Given the description of an element on the screen output the (x, y) to click on. 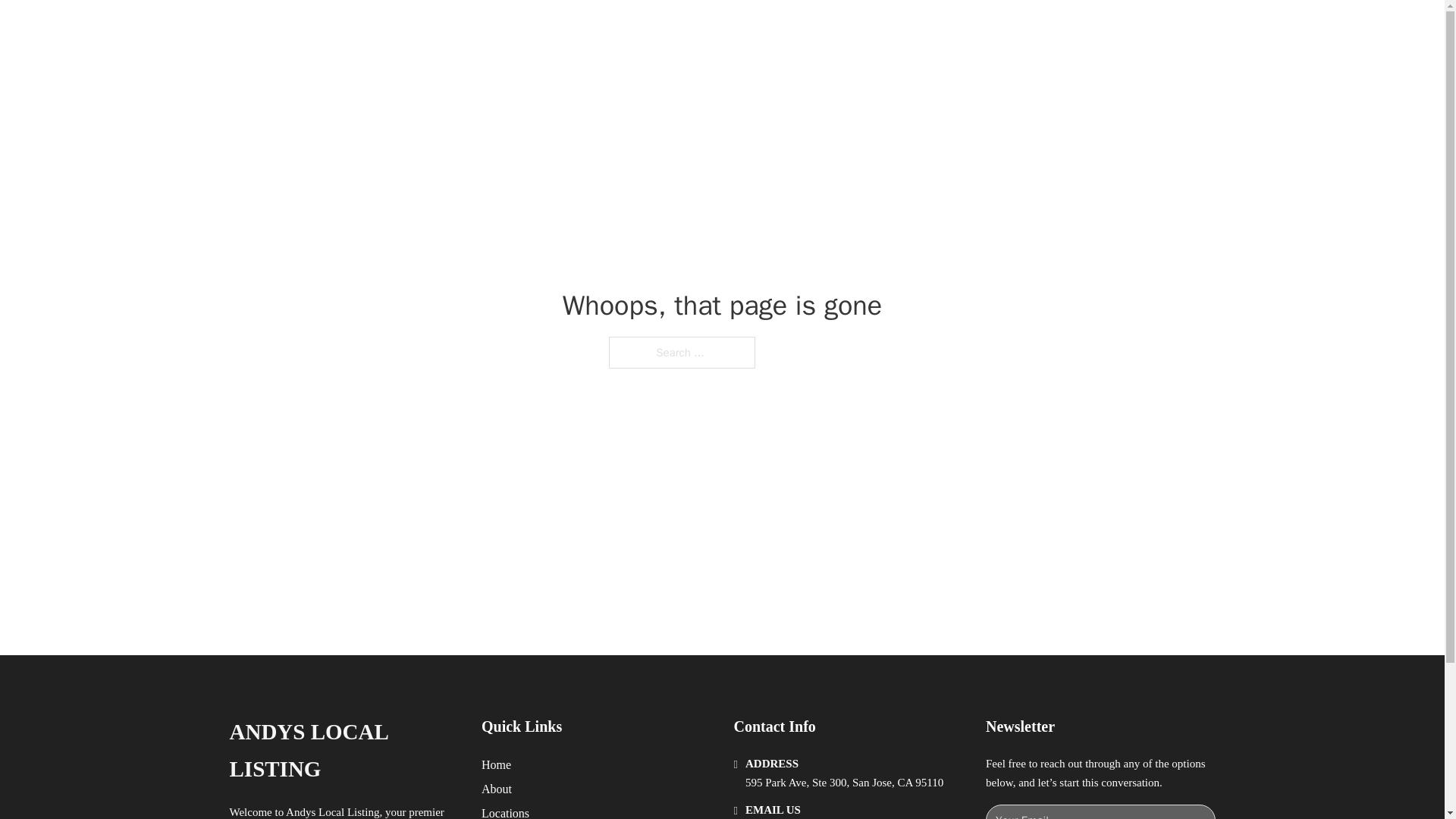
Locations (505, 811)
About (496, 788)
Home (496, 764)
ANDYS LOCAL LISTING (422, 28)
ANDYS LOCAL LISTING (343, 750)
